Given the description of an element on the screen output the (x, y) to click on. 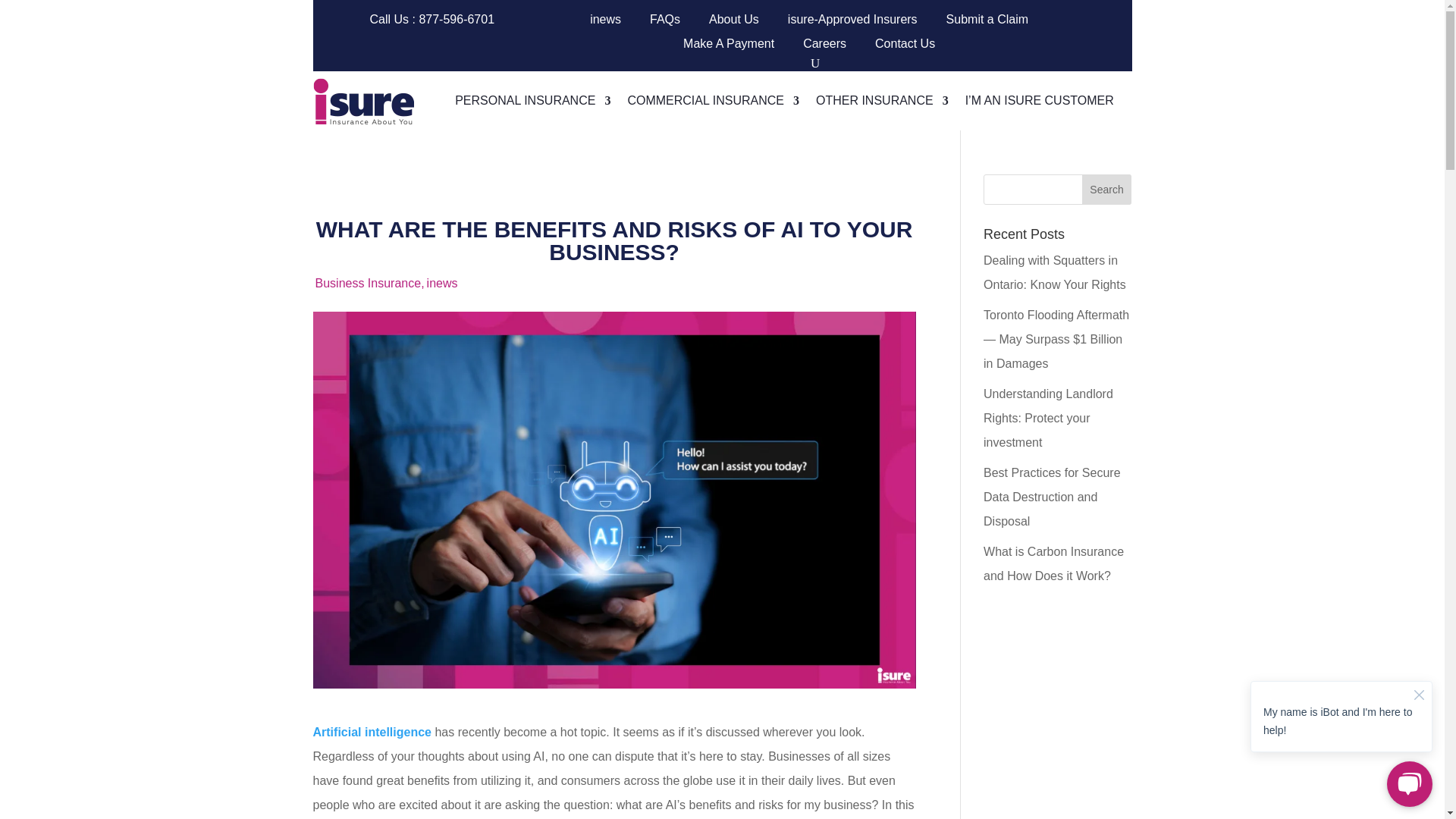
inews (605, 22)
Careers (824, 46)
Submit a Claim (986, 22)
Search (1106, 189)
isure-Approved Insurers (852, 22)
Make A Payment (728, 46)
877-596-6701 (457, 19)
Contact Us (904, 46)
PERSONAL INSURANCE (532, 100)
About Us (733, 22)
FAQs (664, 22)
